Given the description of an element on the screen output the (x, y) to click on. 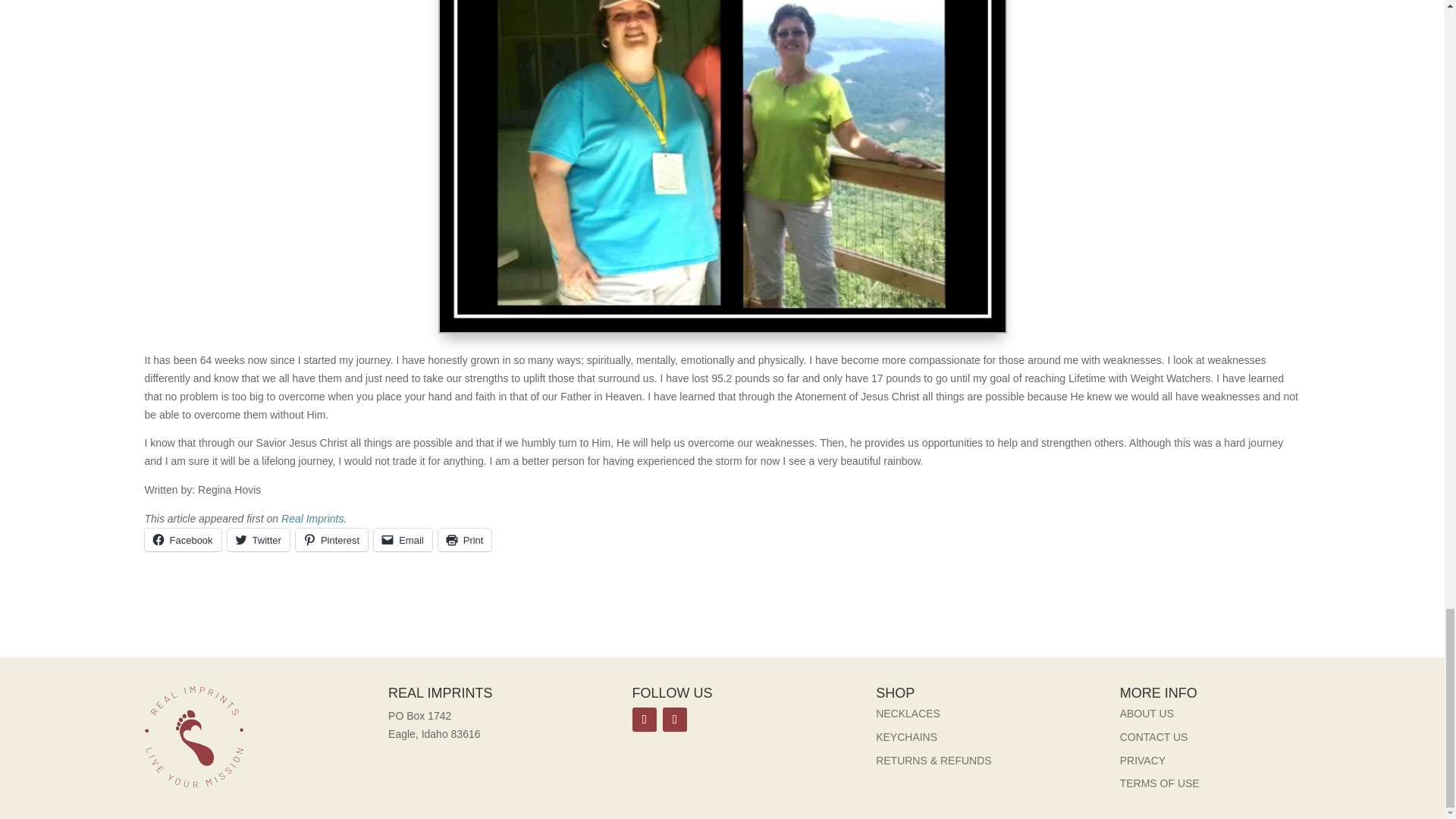
Click to email a link to a friend (403, 539)
Click to share on Facebook (182, 539)
PRIVACY (1142, 760)
ABOUT US (1146, 713)
Keychains (906, 736)
Click to share on Twitter (258, 539)
Click to share on Pinterest (331, 539)
Pinterest (331, 539)
NECKLACES (908, 713)
TERMS OF USE (1159, 783)
Twitter (258, 539)
Real Imprints (312, 518)
Follow on Facebook (643, 719)
Print (465, 539)
CONTACT US (1153, 736)
